Given the description of an element on the screen output the (x, y) to click on. 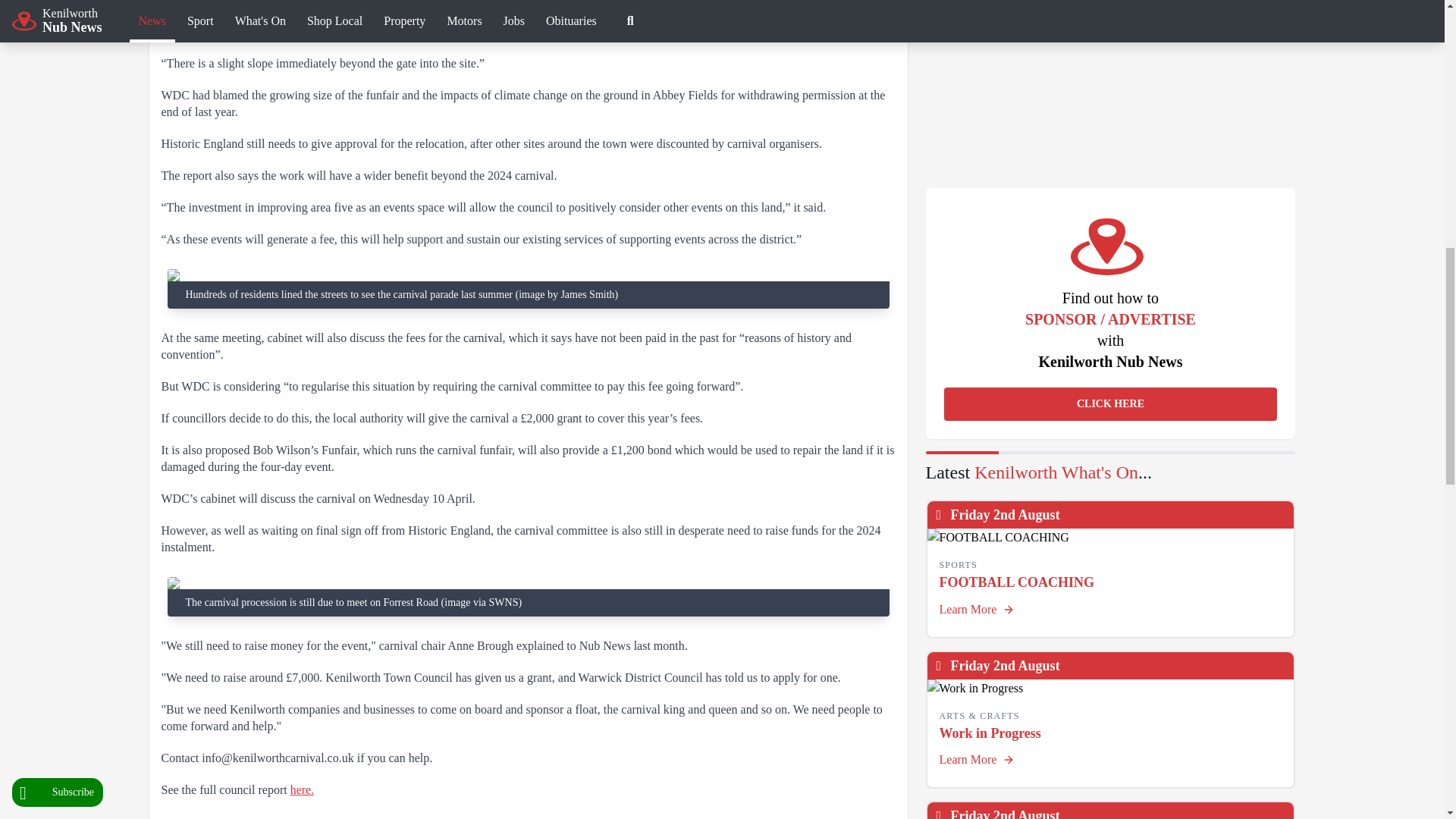
Work in Progress (1110, 688)
FOOTBALL COACHING (1110, 537)
